Given the description of an element on the screen output the (x, y) to click on. 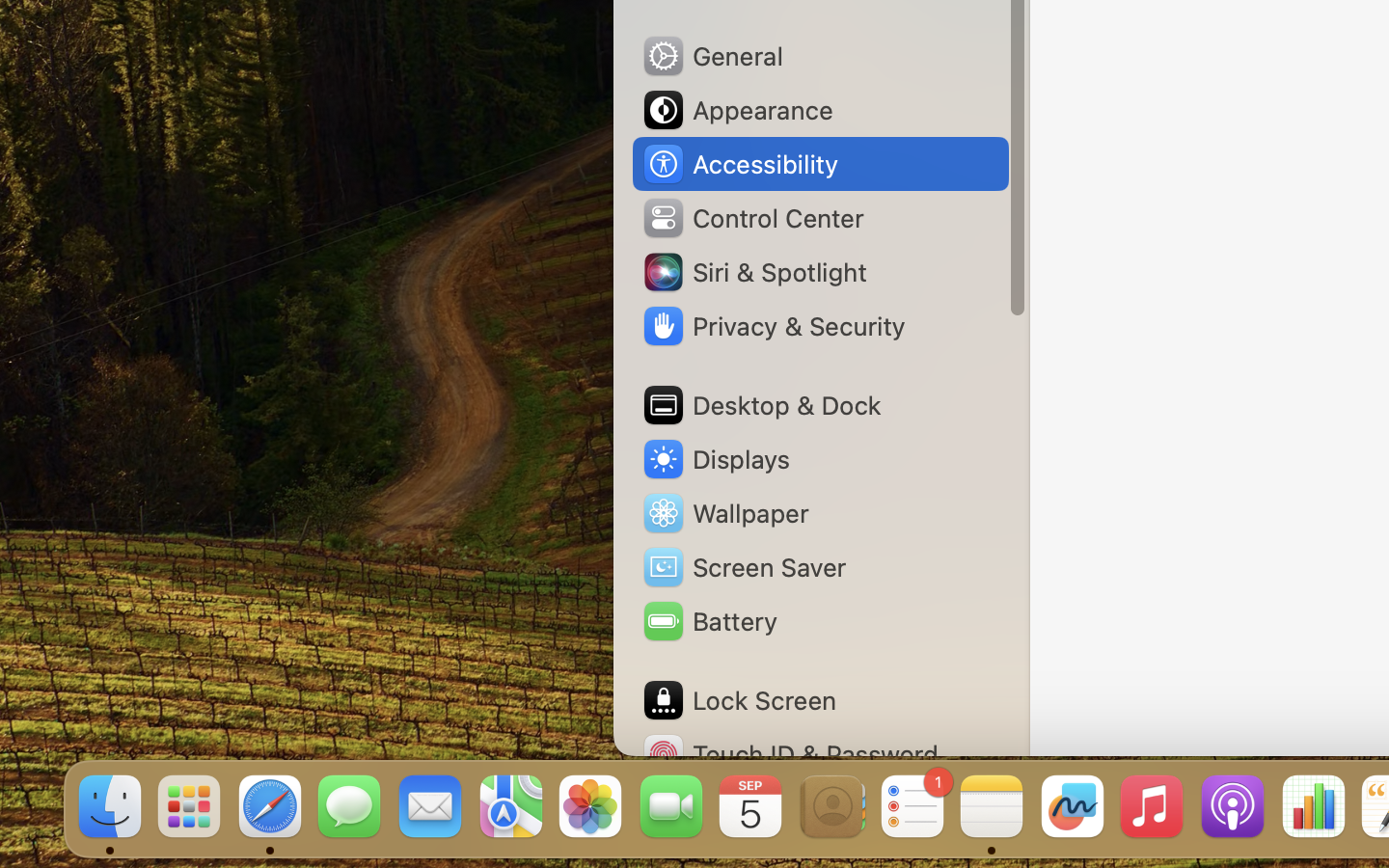
Wallpaper Element type: AXStaticText (724, 512)
Siri & Spotlight Element type: AXStaticText (753, 271)
Screen Saver Element type: AXStaticText (743, 566)
